Given the description of an element on the screen output the (x, y) to click on. 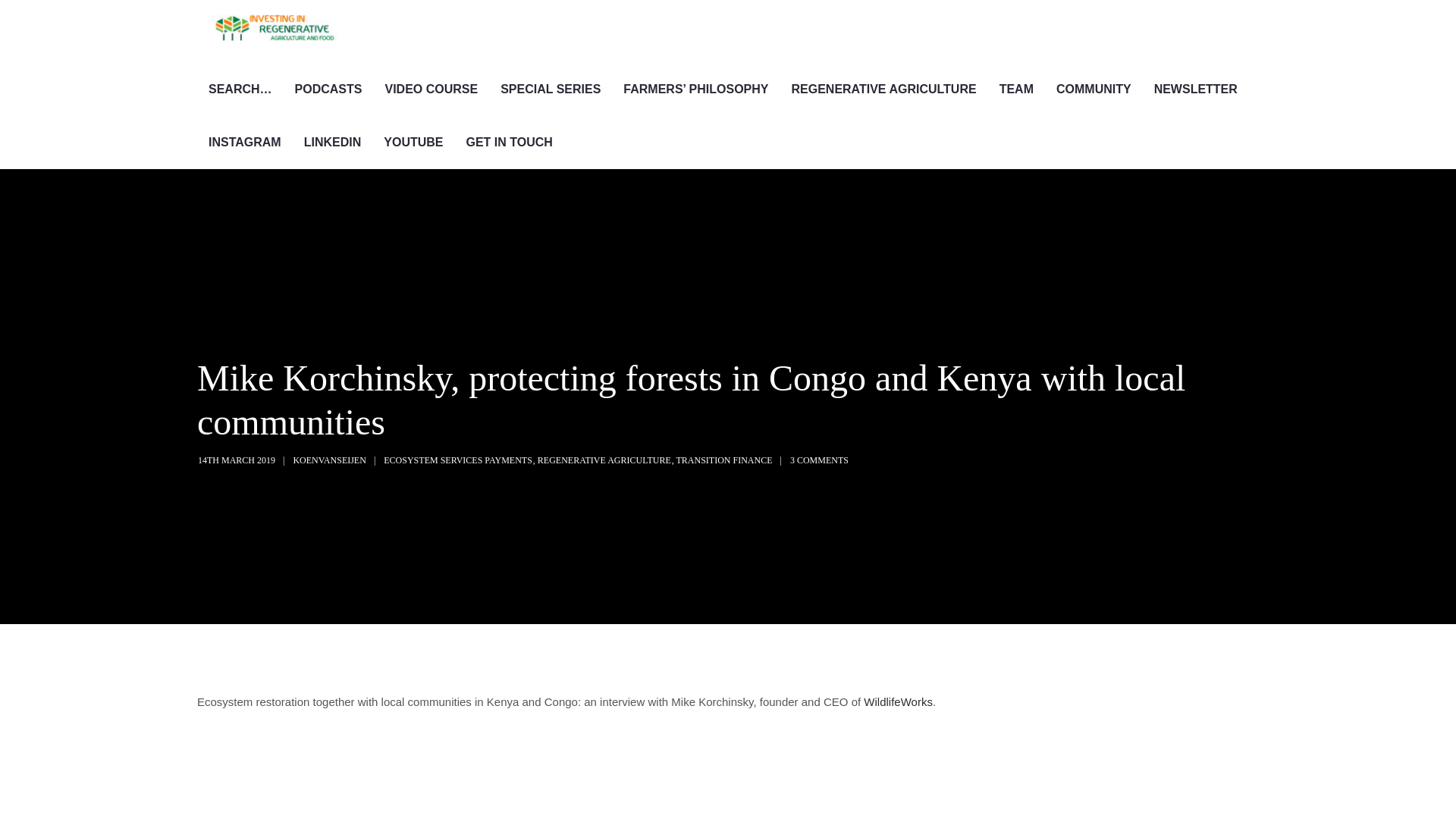
PODCASTS (328, 89)
SPECIAL SERIES (550, 89)
VIDEO COURSE (430, 89)
